Given the description of an element on the screen output the (x, y) to click on. 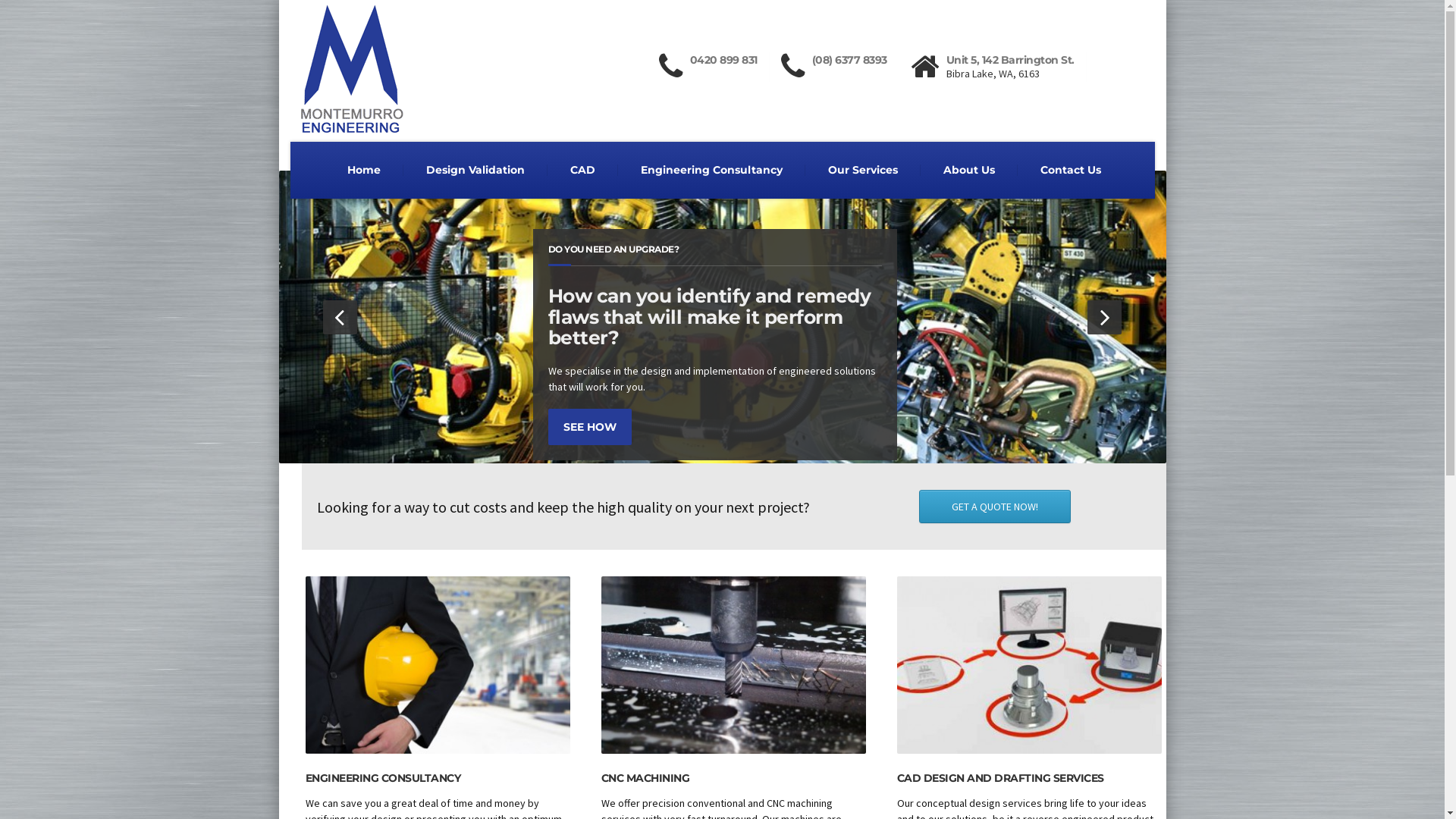
Contact Us Element type: text (1070, 169)
CAD DESIGN AND DRAFTING SERVICES Element type: text (999, 777)
CAD Element type: text (582, 169)
SEE HOW Element type: text (704, 426)
ENGINEERING CONSULTANCY Element type: text (382, 777)
Our Services Element type: text (862, 169)
Home Element type: text (363, 169)
GET A QUOTE NOW! Element type: text (994, 506)
About Us Element type: text (968, 169)
CNC MACHINING Element type: text (644, 777)
Engineering Consultancy Element type: text (710, 169)
Design Validation Element type: text (475, 169)
